Given the description of an element on the screen output the (x, y) to click on. 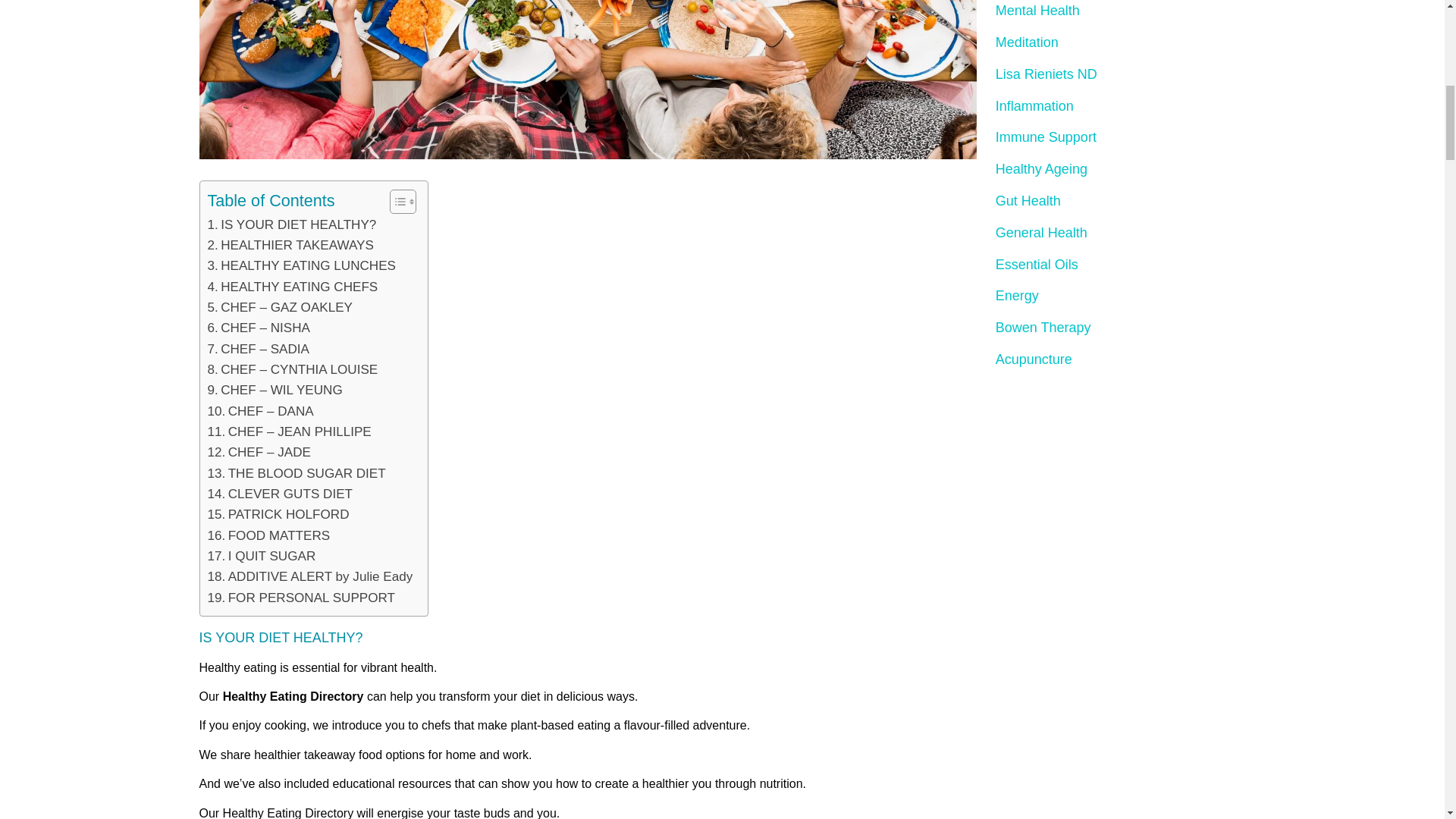
CLEVER GUTS DIET (280, 494)
HEALTHY EATING CHEFS (293, 286)
FOOD MATTERS (269, 535)
HEALTHIER TAKEAWAYS (291, 245)
IS YOUR DIET HEALTHY? (292, 224)
I QUIT SUGAR (261, 556)
ADDITIVE ALERT by Julie Eady (310, 576)
HEALTHY EATING LUNCHES (302, 265)
PATRICK HOLFORD (278, 514)
THE BLOOD SUGAR DIET (296, 473)
